Given the description of an element on the screen output the (x, y) to click on. 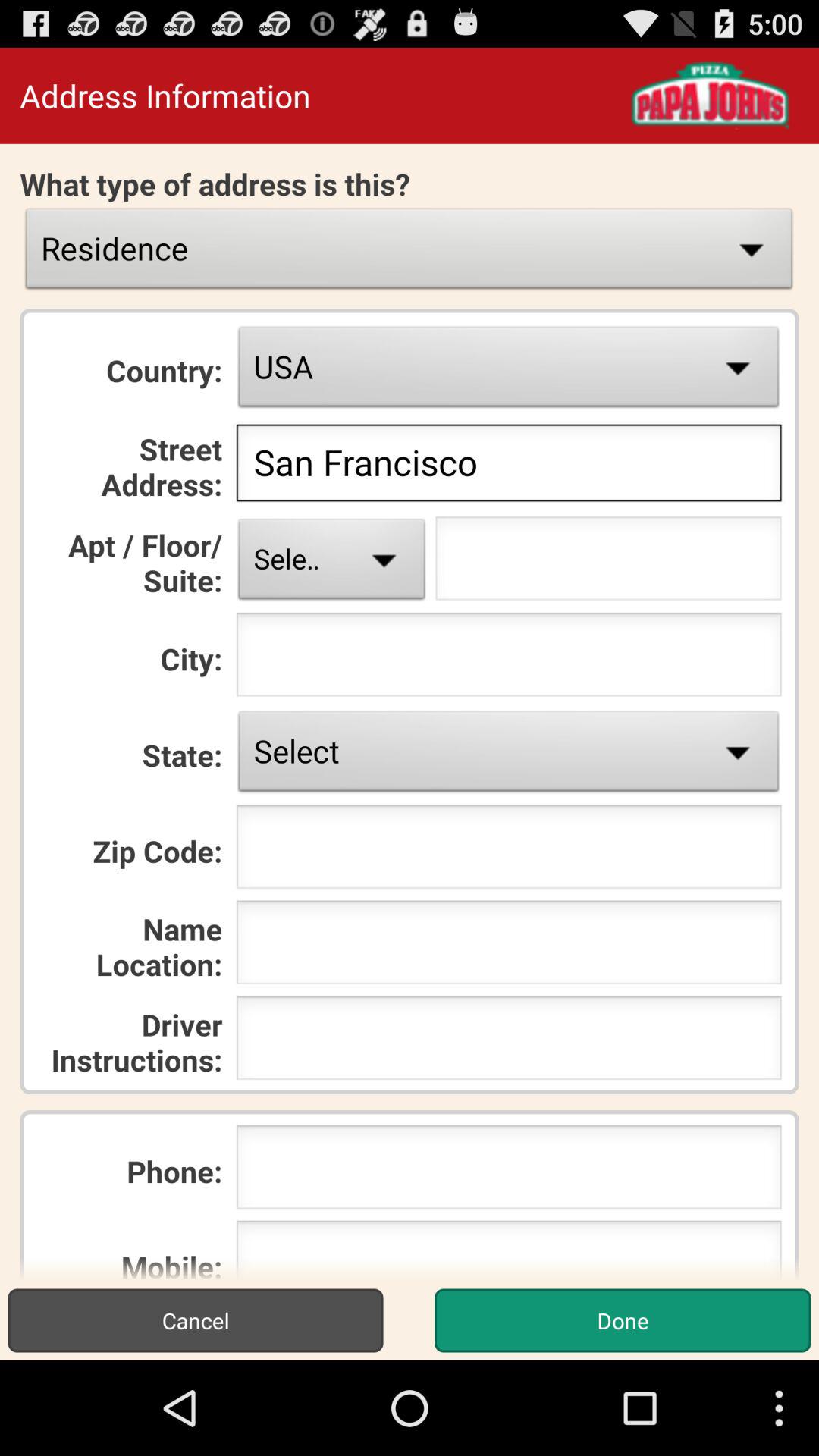
mobile option (508, 1249)
